Given the description of an element on the screen output the (x, y) to click on. 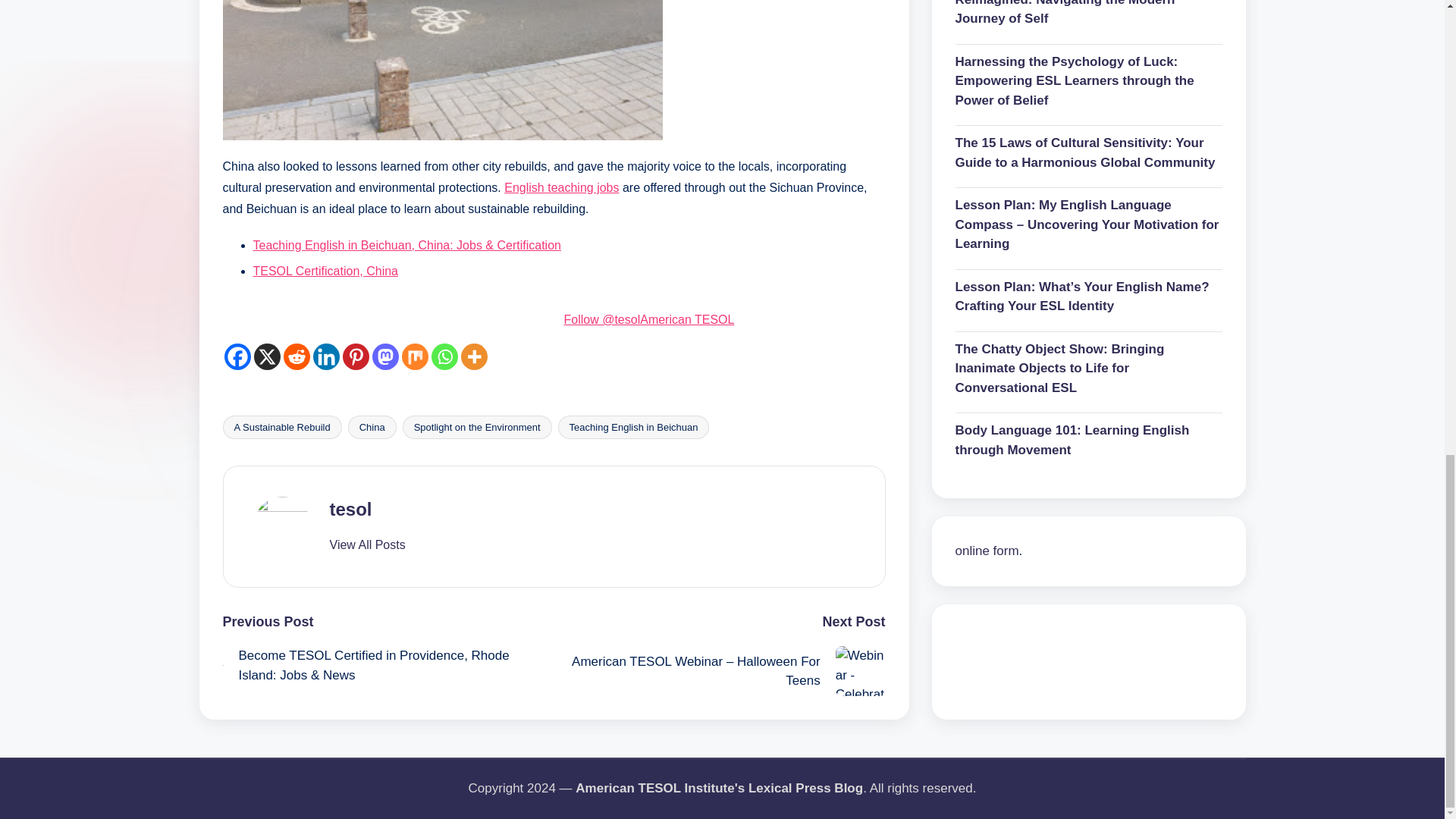
tesol (350, 508)
Reddit (296, 356)
American TESOL (686, 318)
TESOL Certification, China (325, 270)
A Sustainable Rebuild (282, 426)
Whatsapp (443, 356)
Linkedin (326, 356)
Teaching English in Beichuan (633, 426)
Pinterest (355, 356)
China (371, 426)
